Given the description of an element on the screen output the (x, y) to click on. 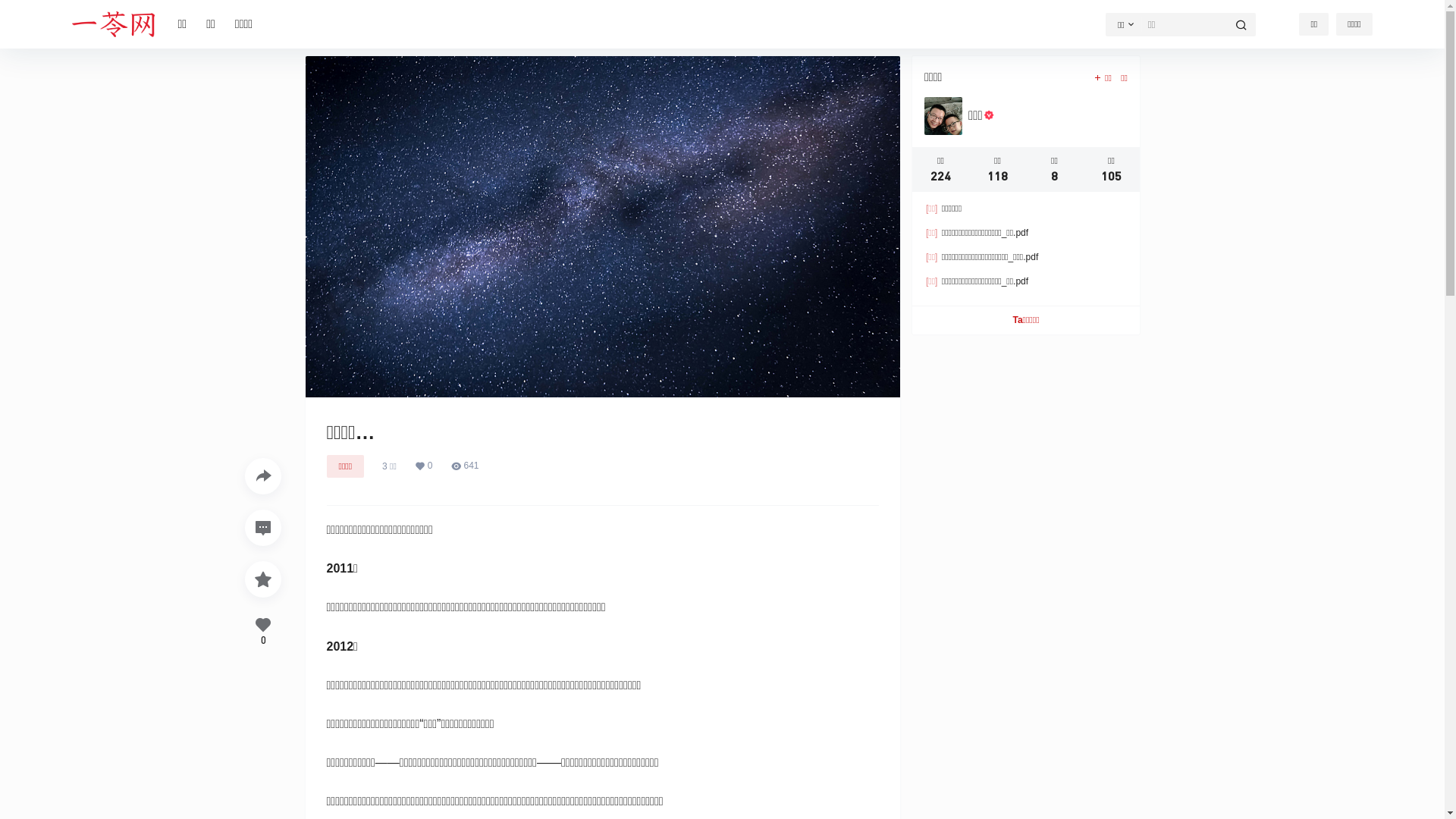
ok Element type: text (10, 10)
